Given the description of an element on the screen output the (x, y) to click on. 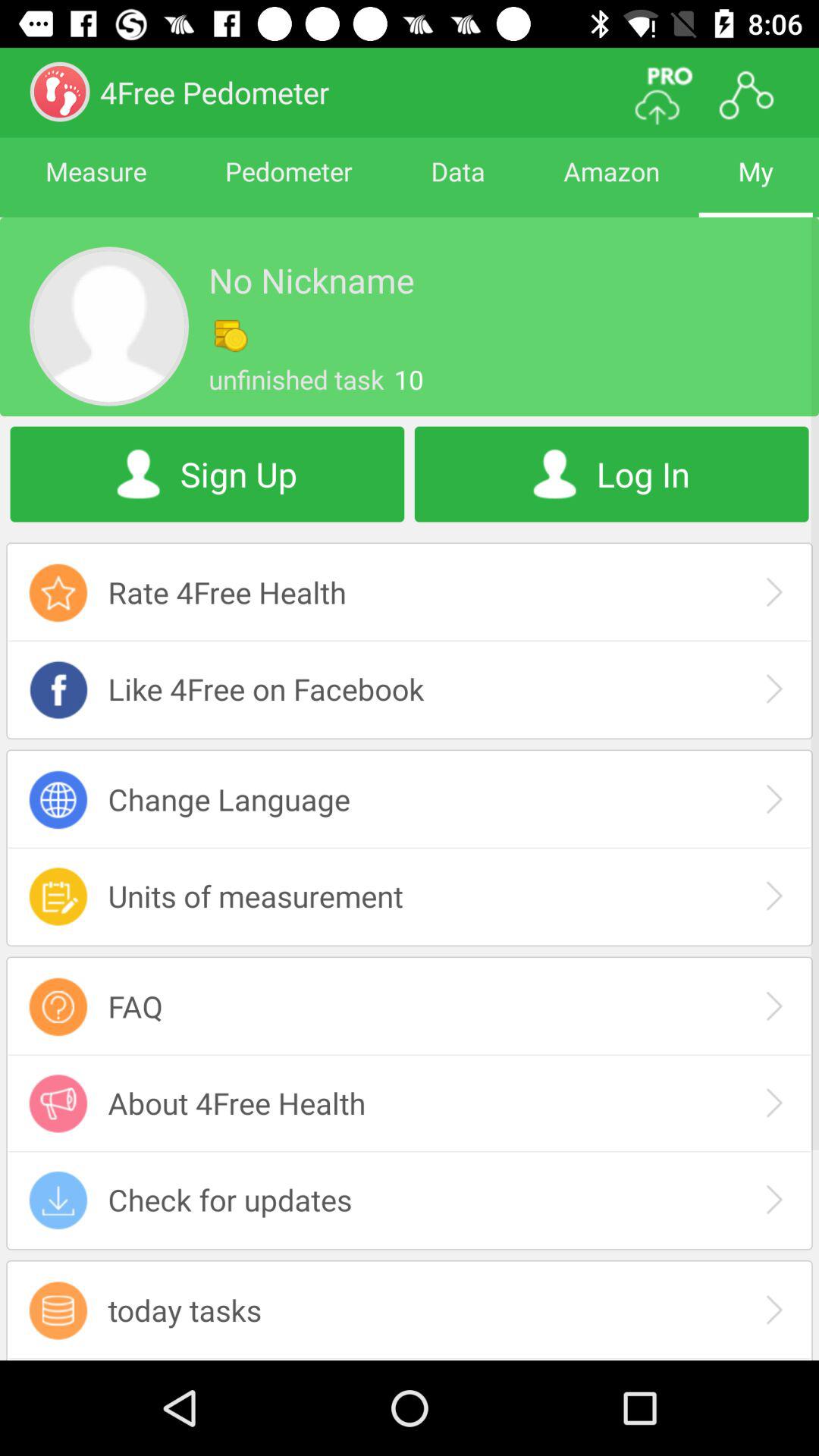
press the icon to the left of no nickname app (108, 326)
